Given the description of an element on the screen output the (x, y) to click on. 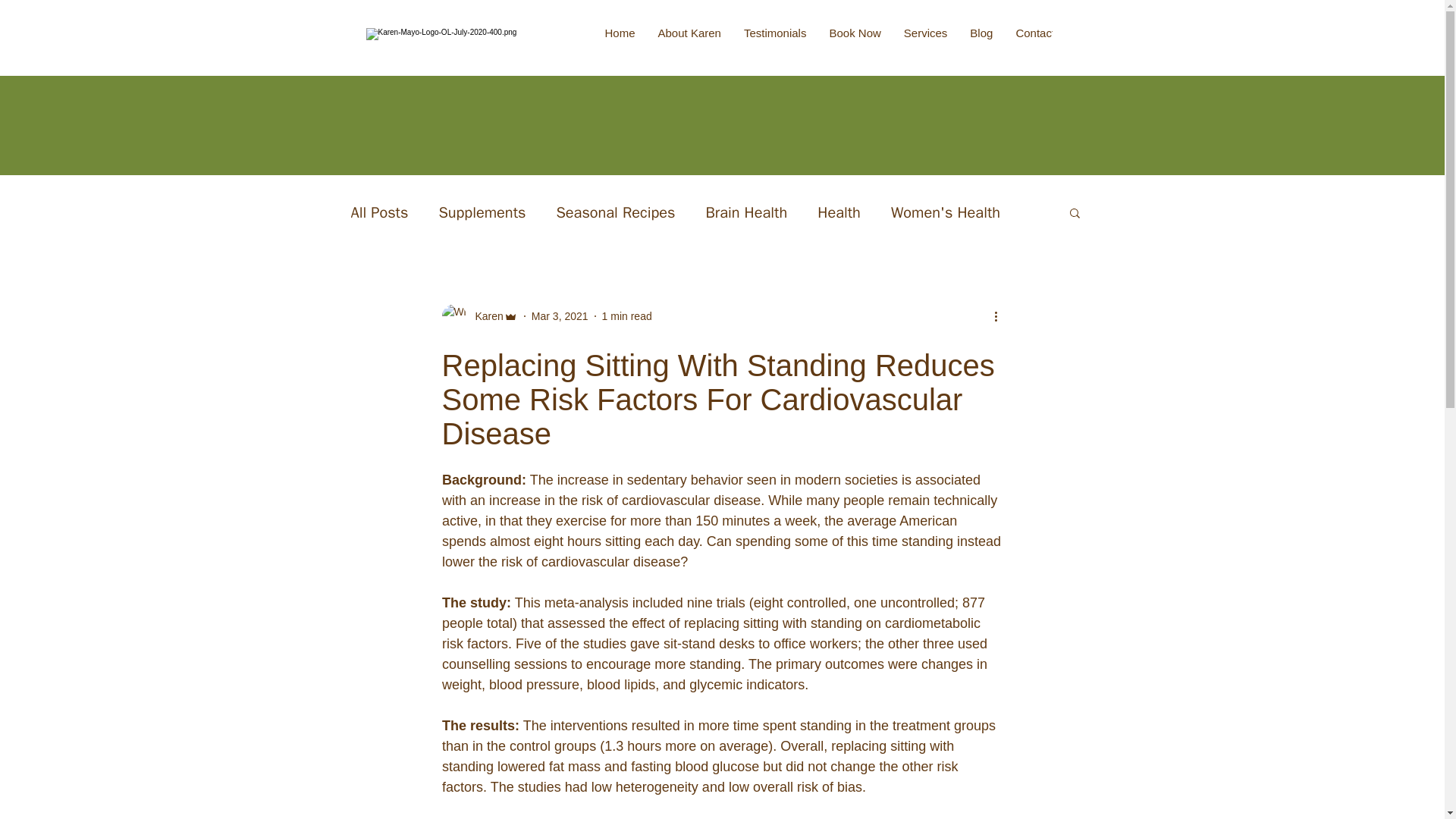
About Karen (689, 43)
Mar 3, 2021 (559, 315)
Blog (981, 43)
Health (838, 211)
Book Now (853, 43)
Testimonials (775, 43)
Karen (483, 315)
Seasonal Recipes (615, 211)
All Posts (378, 211)
Contact (1034, 43)
